Given the description of an element on the screen output the (x, y) to click on. 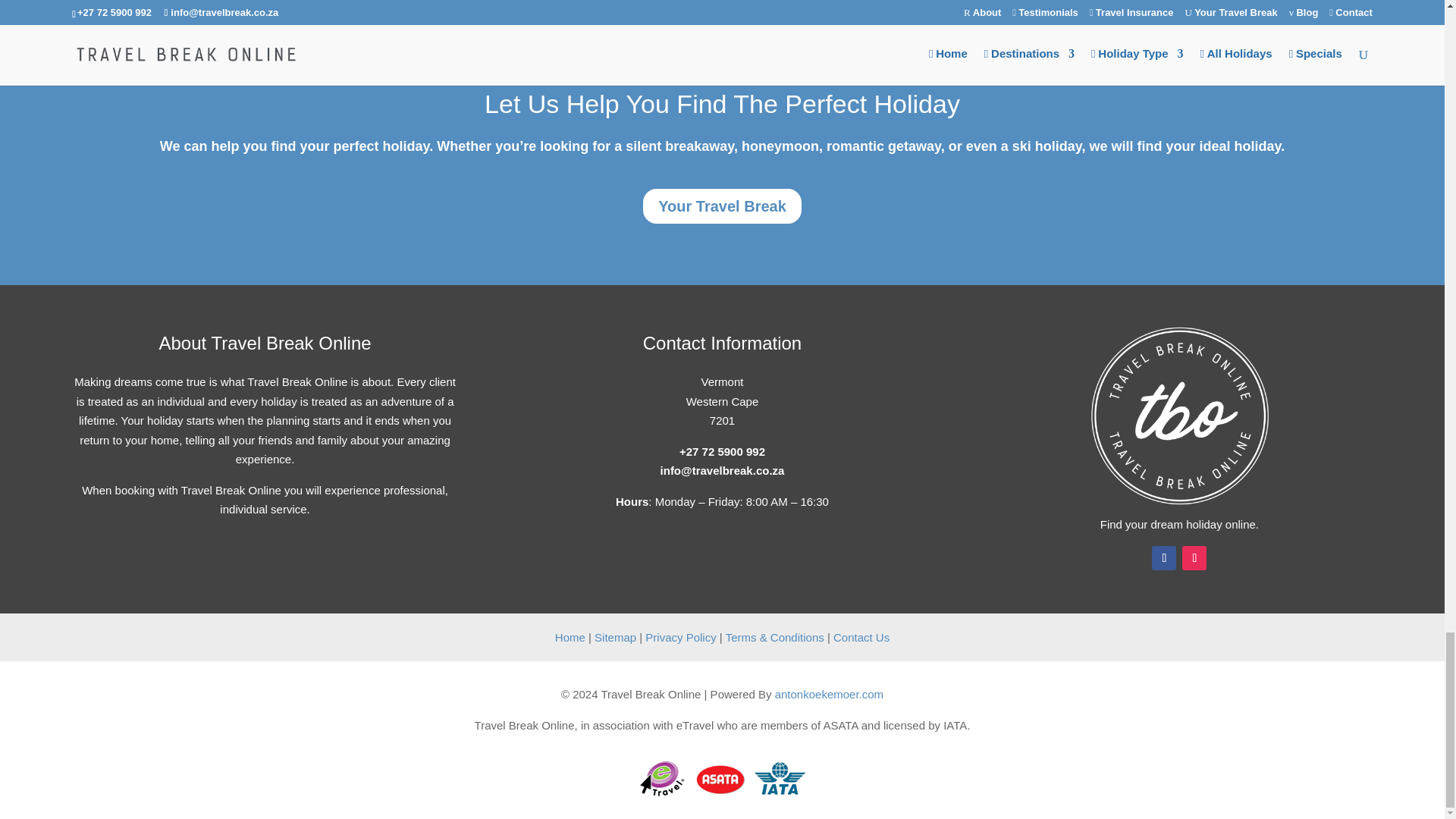
Follow on Instagram (1194, 558)
Travel Break Online (1179, 416)
Follow on Facebook (1163, 558)
Travel Break Associations (722, 778)
